Given the description of an element on the screen output the (x, y) to click on. 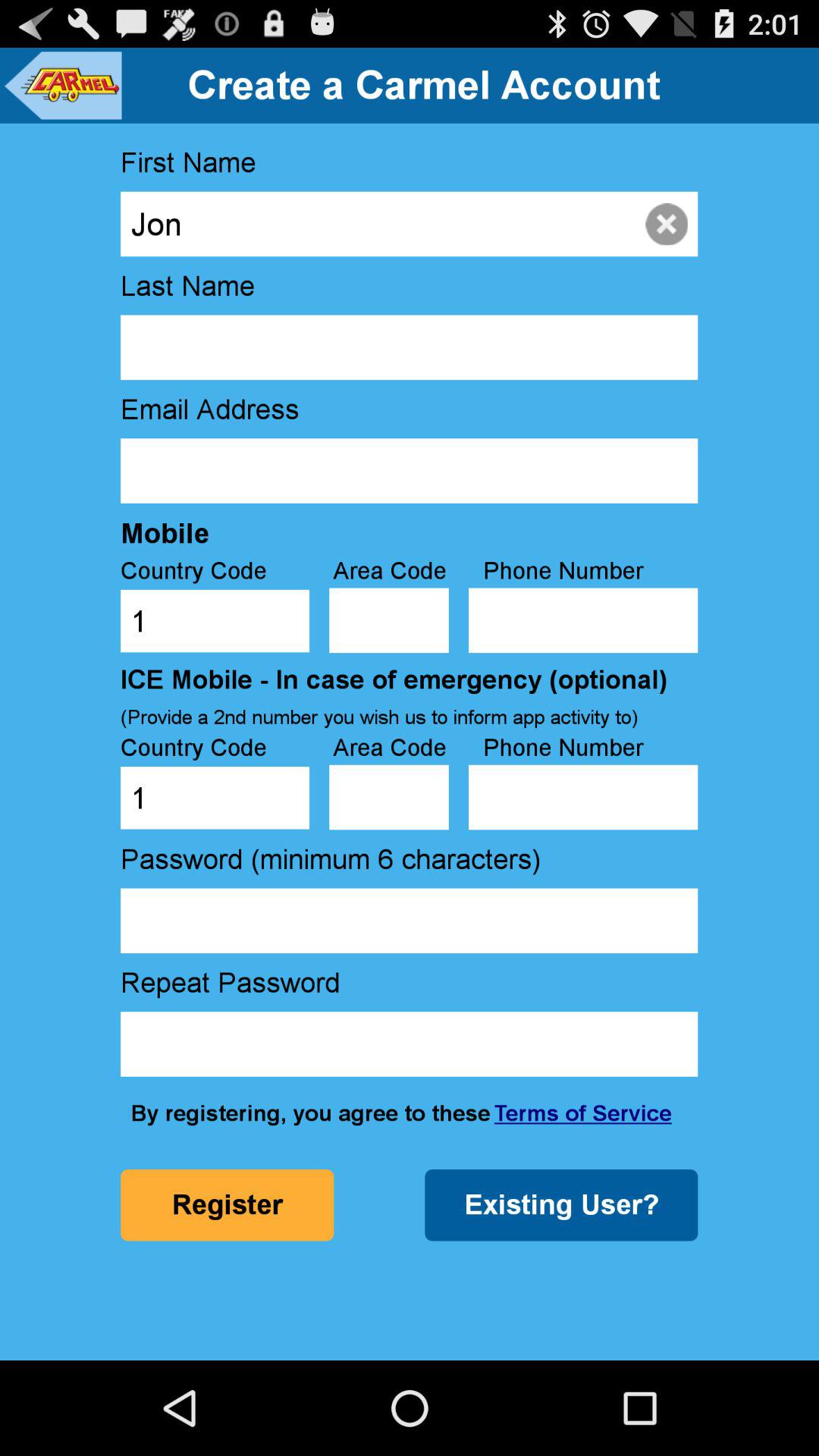
turn on the icon above last name icon (408, 223)
